Given the description of an element on the screen output the (x, y) to click on. 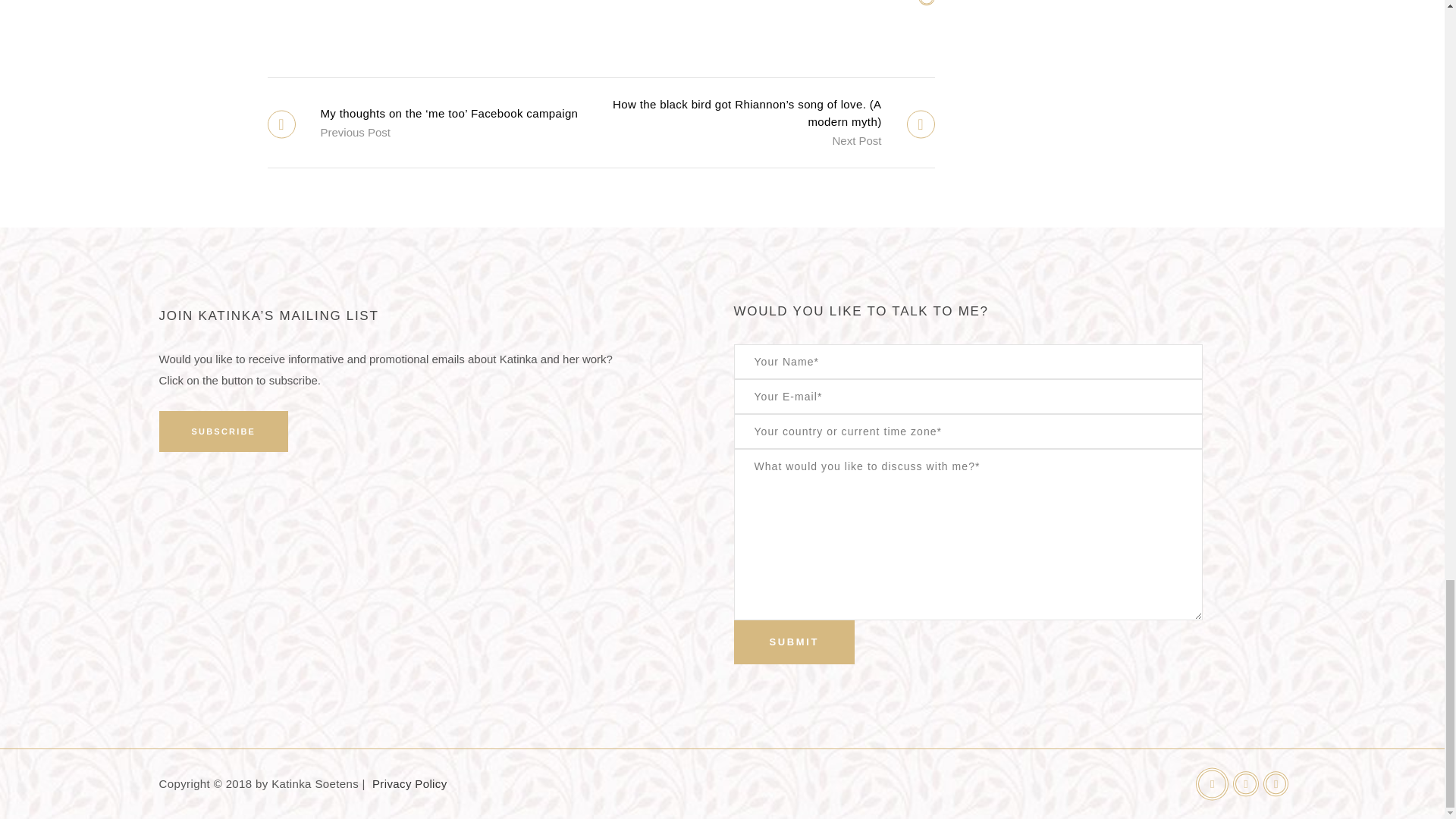
Submit (793, 641)
